Given the description of an element on the screen output the (x, y) to click on. 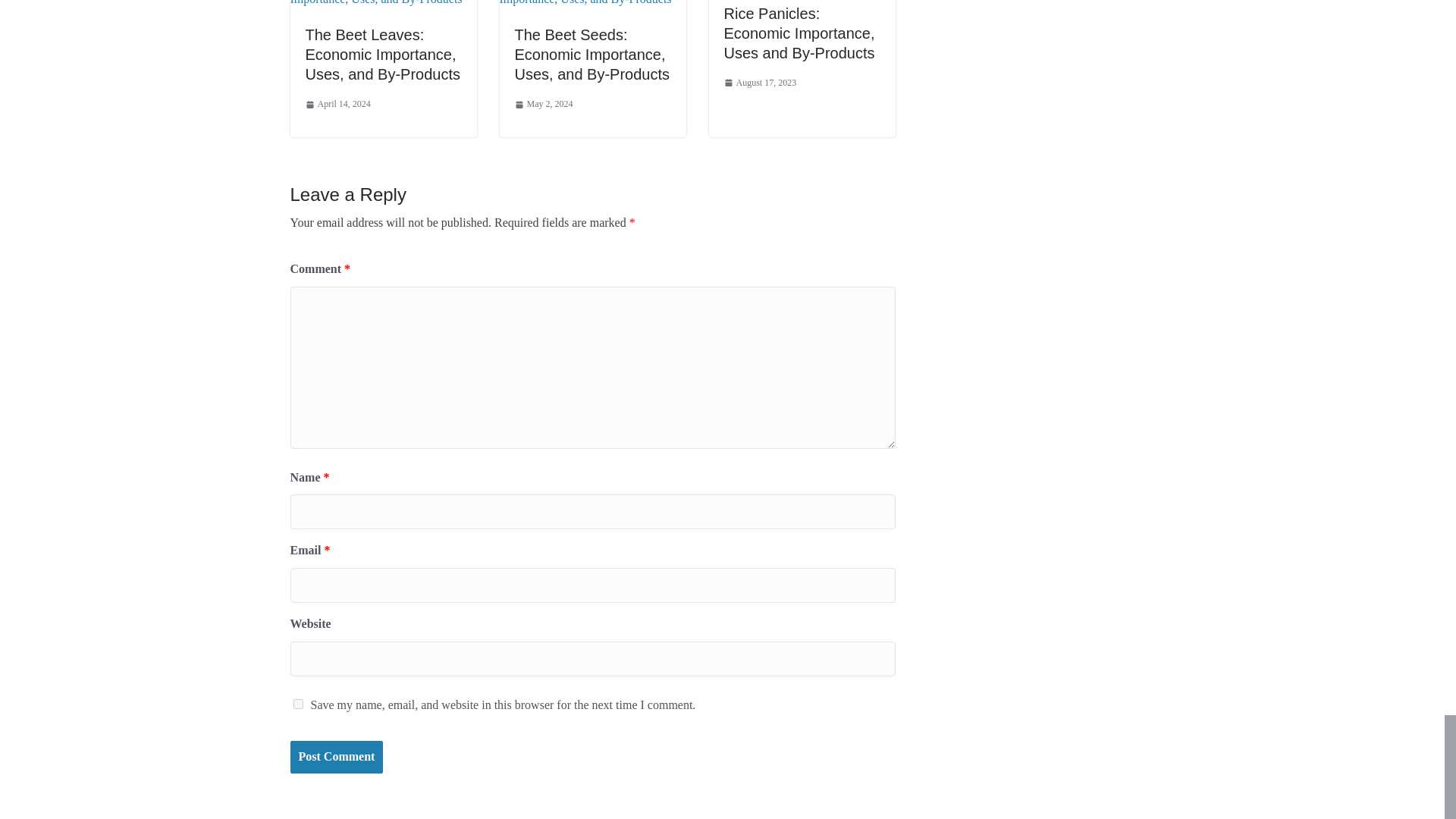
Post Comment (335, 757)
yes (297, 704)
